Given the description of an element on the screen output the (x, y) to click on. 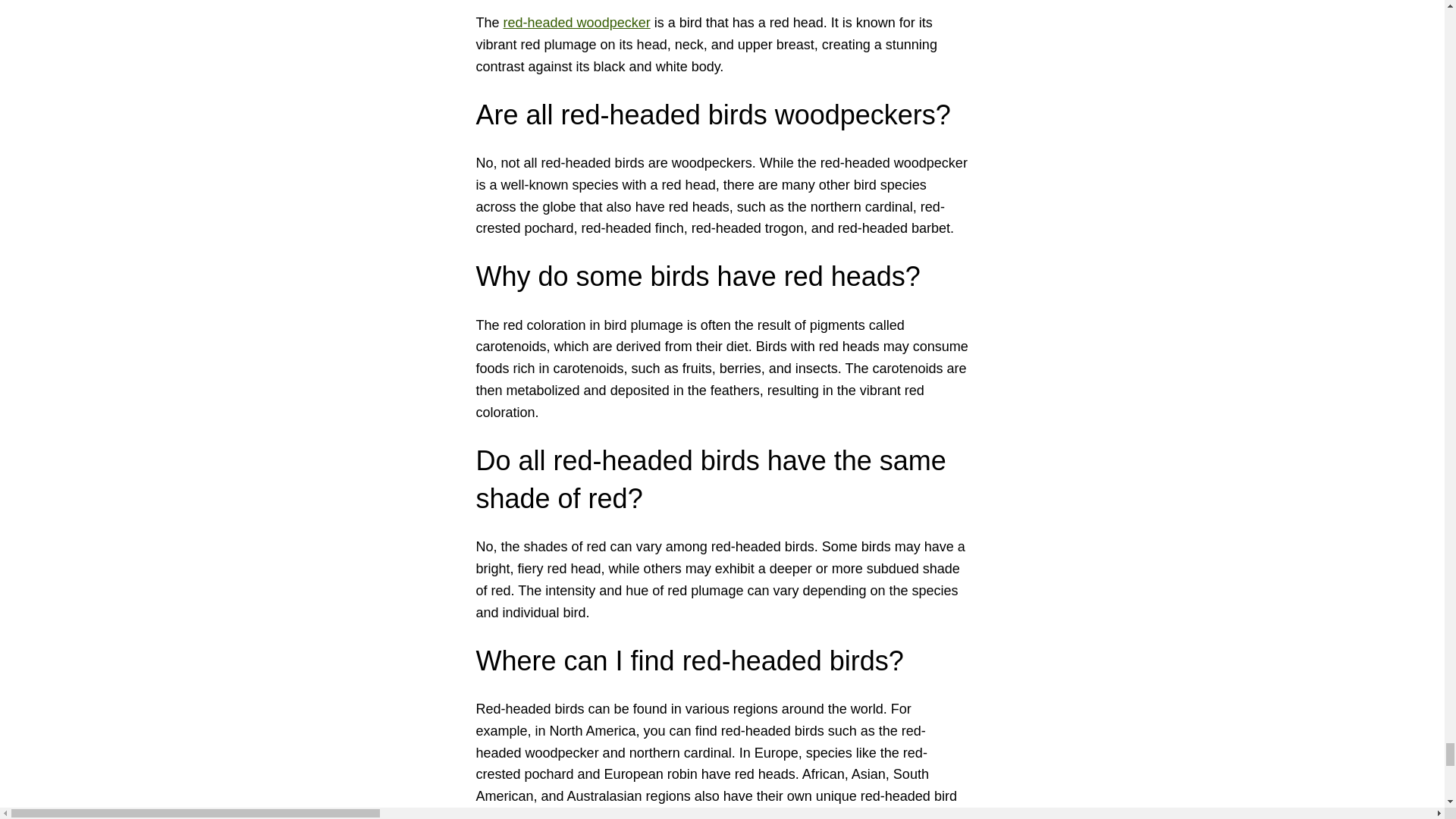
red-headed woodpecker (576, 22)
